Given the description of an element on the screen output the (x, y) to click on. 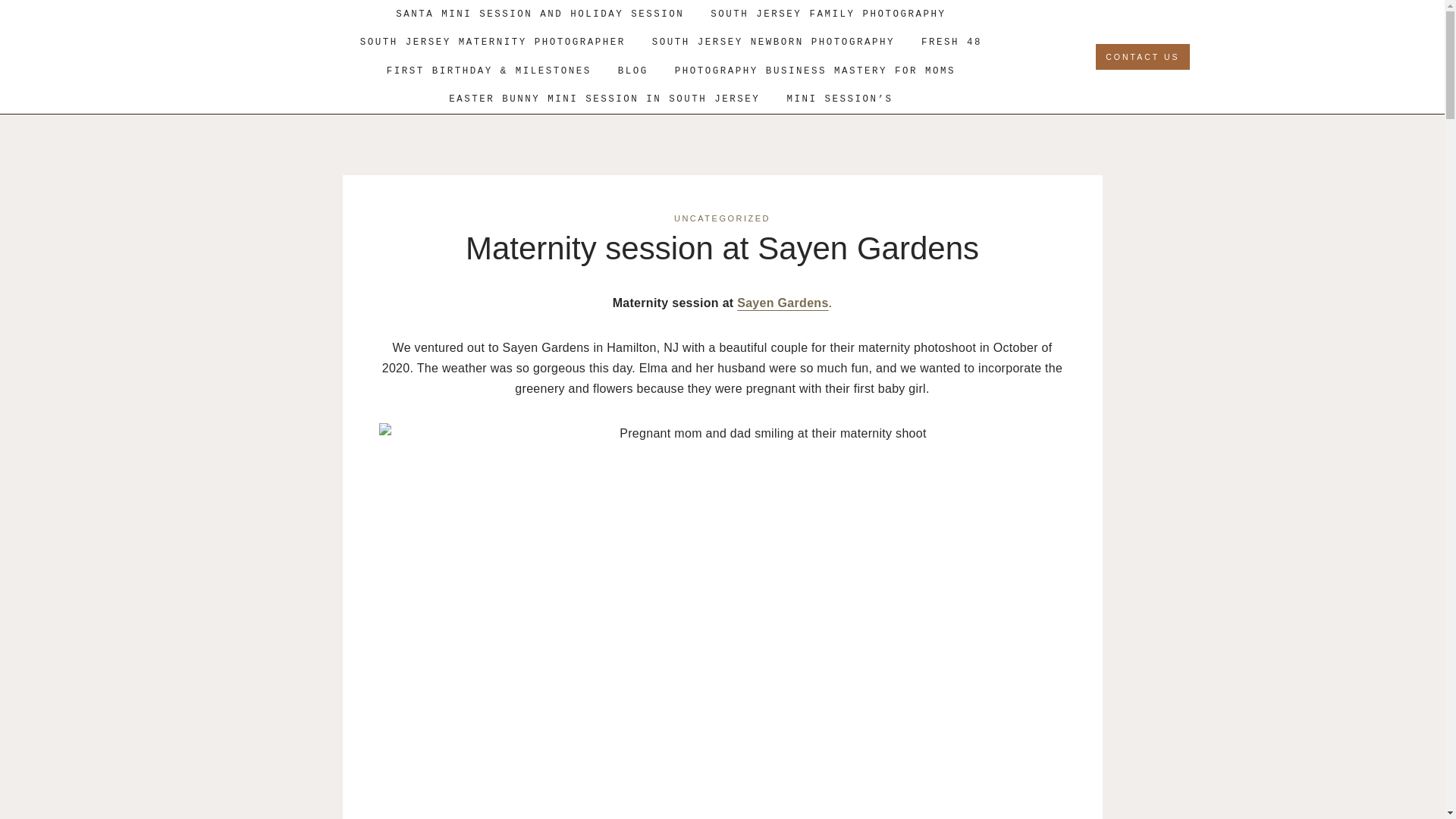
PHOTOGRAPHY BUSINESS MASTERY FOR MOMS (814, 70)
SOUTH JERSEY NEWBORN PHOTOGRAPHY (773, 42)
UNCATEGORIZED (722, 217)
BLOG (632, 70)
Sayen Gardens (782, 302)
SOUTH JERSEY FAMILY PHOTOGRAPHY (828, 14)
CONTACT US (1142, 56)
FRESH 48 (950, 42)
SOUTH JERSEY MATERNITY PHOTOGRAPHER (492, 42)
SANTA MINI SESSION AND HOLIDAY SESSION (539, 14)
EASTER BUNNY MINI SESSION IN SOUTH JERSEY (604, 99)
